Given the description of an element on the screen output the (x, y) to click on. 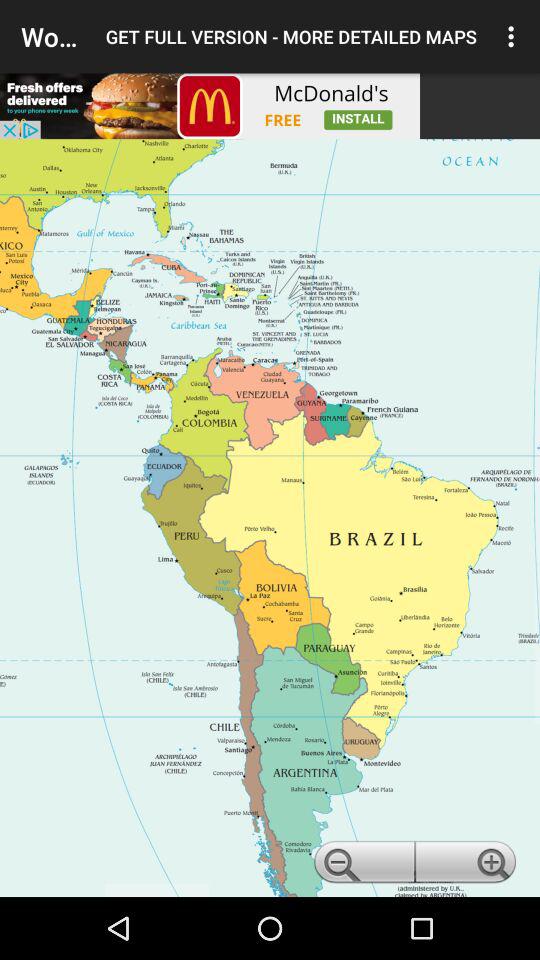
the button is used to share the article to others (210, 106)
